Given the description of an element on the screen output the (x, y) to click on. 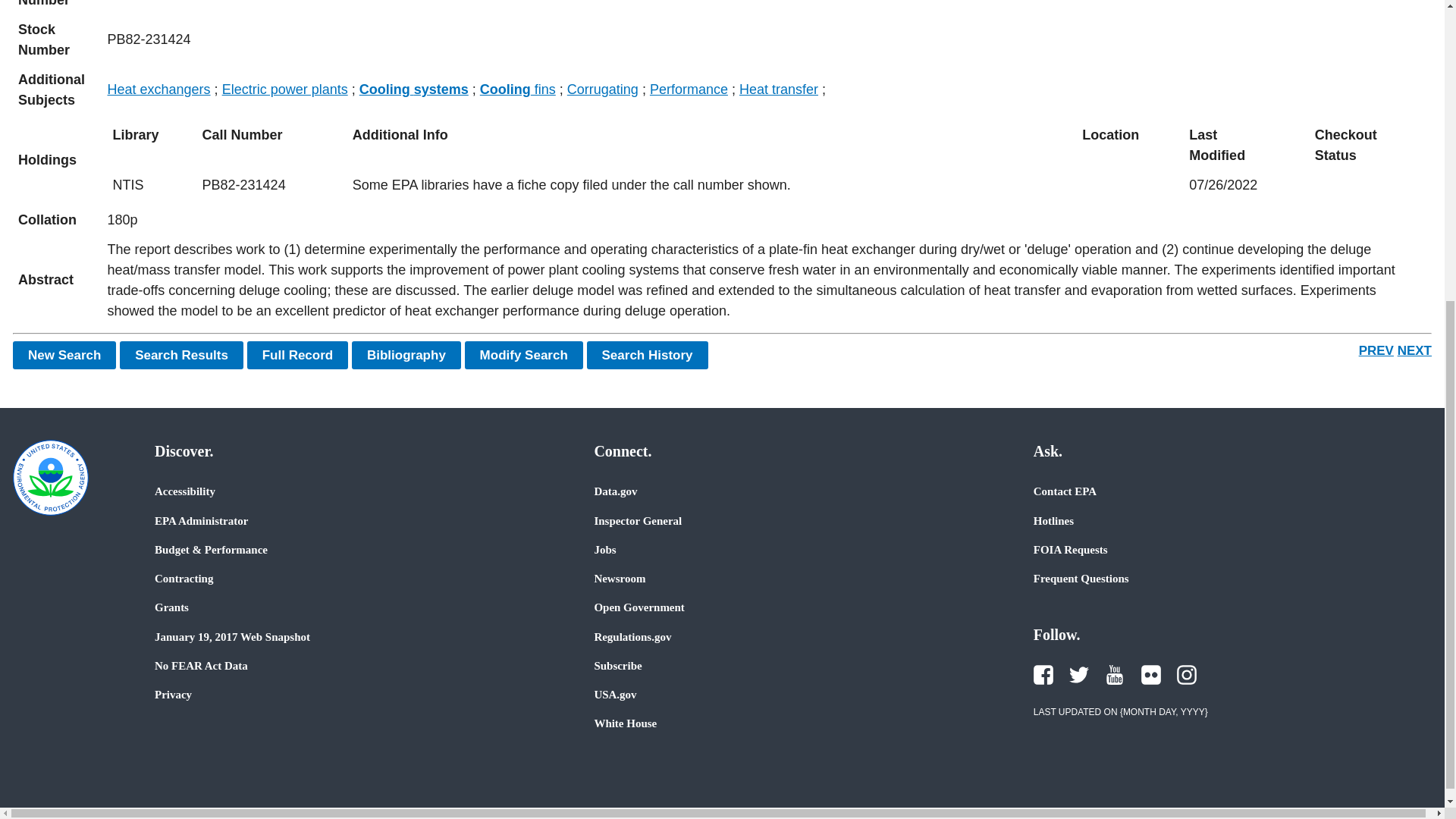
Display Full Record (298, 355)
Cooling systems (413, 89)
Create a New Search (64, 355)
Search Results (181, 355)
Jobs (604, 549)
Contracting (183, 578)
January 19, 2017 Web Snapshot (232, 636)
Performance (688, 89)
EPA Administrator (200, 520)
Modify Search (523, 355)
